Given the description of an element on the screen output the (x, y) to click on. 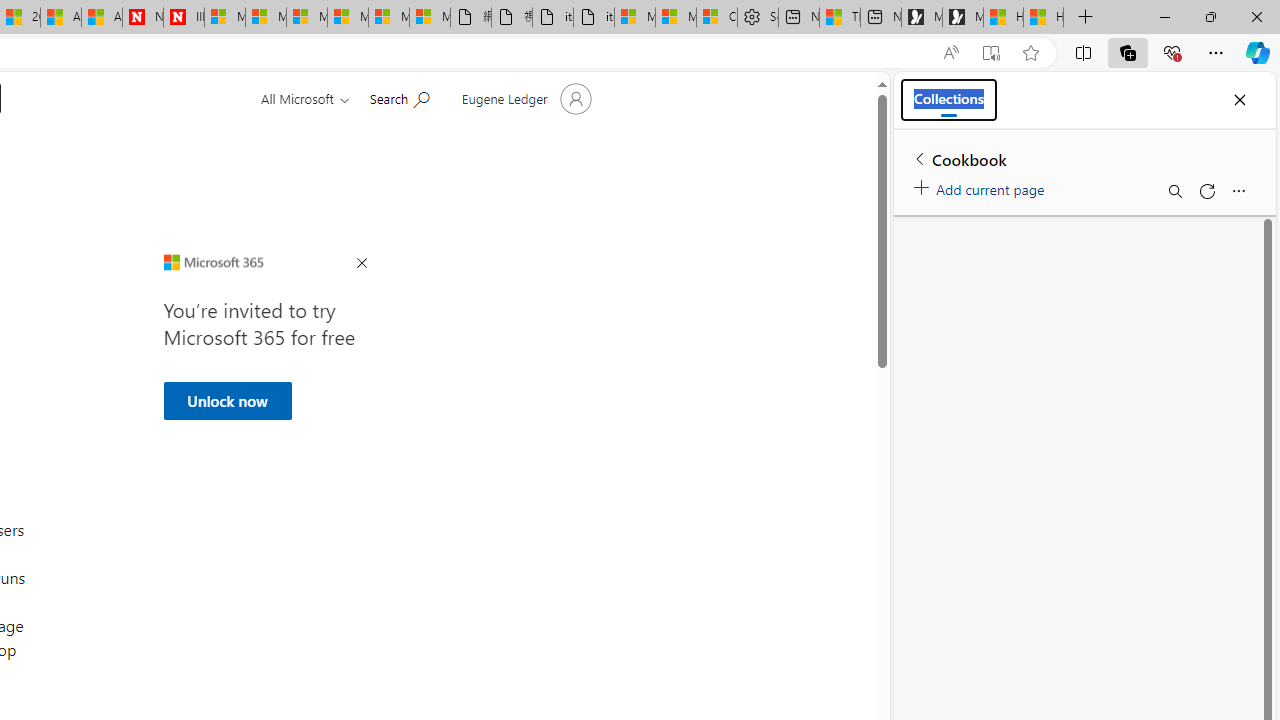
Back to list of collections (920, 158)
Three Ways To Stop Sweating So Much (840, 17)
Close Ad (361, 264)
Unlock now (226, 399)
